Given the description of an element on the screen output the (x, y) to click on. 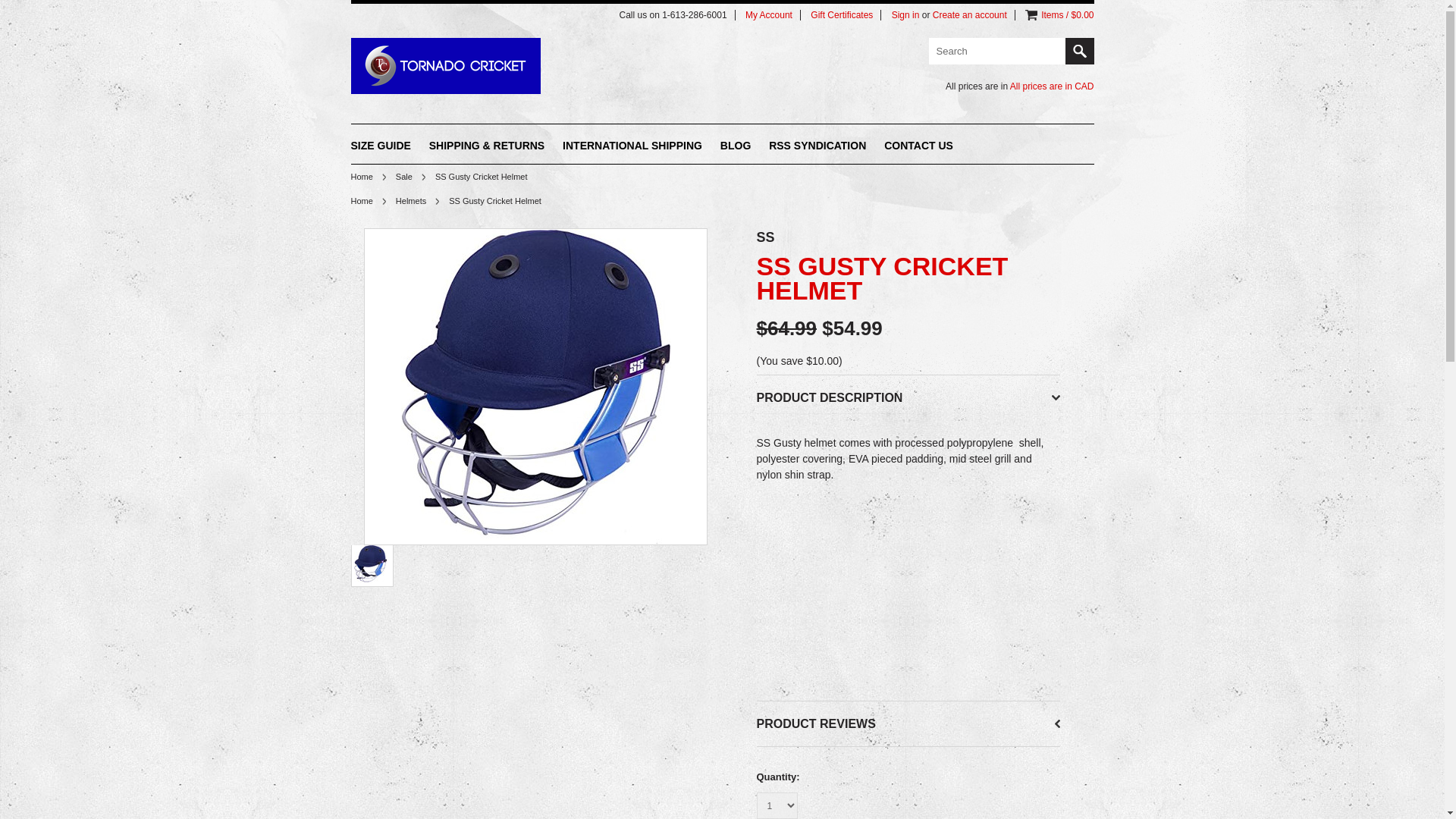
Gift Certificates (841, 14)
CONTACT US (918, 146)
Home (367, 175)
View Cart (1030, 14)
Home (367, 200)
RSS SYNDICATION (817, 146)
SS (765, 237)
Create an account (970, 14)
SIZE GUIDE (380, 146)
BLOG (735, 146)
Search (996, 50)
Default Currency (1083, 86)
All prices are in CAD (1052, 86)
Search (1078, 50)
Sale (411, 175)
